Given the description of an element on the screen output the (x, y) to click on. 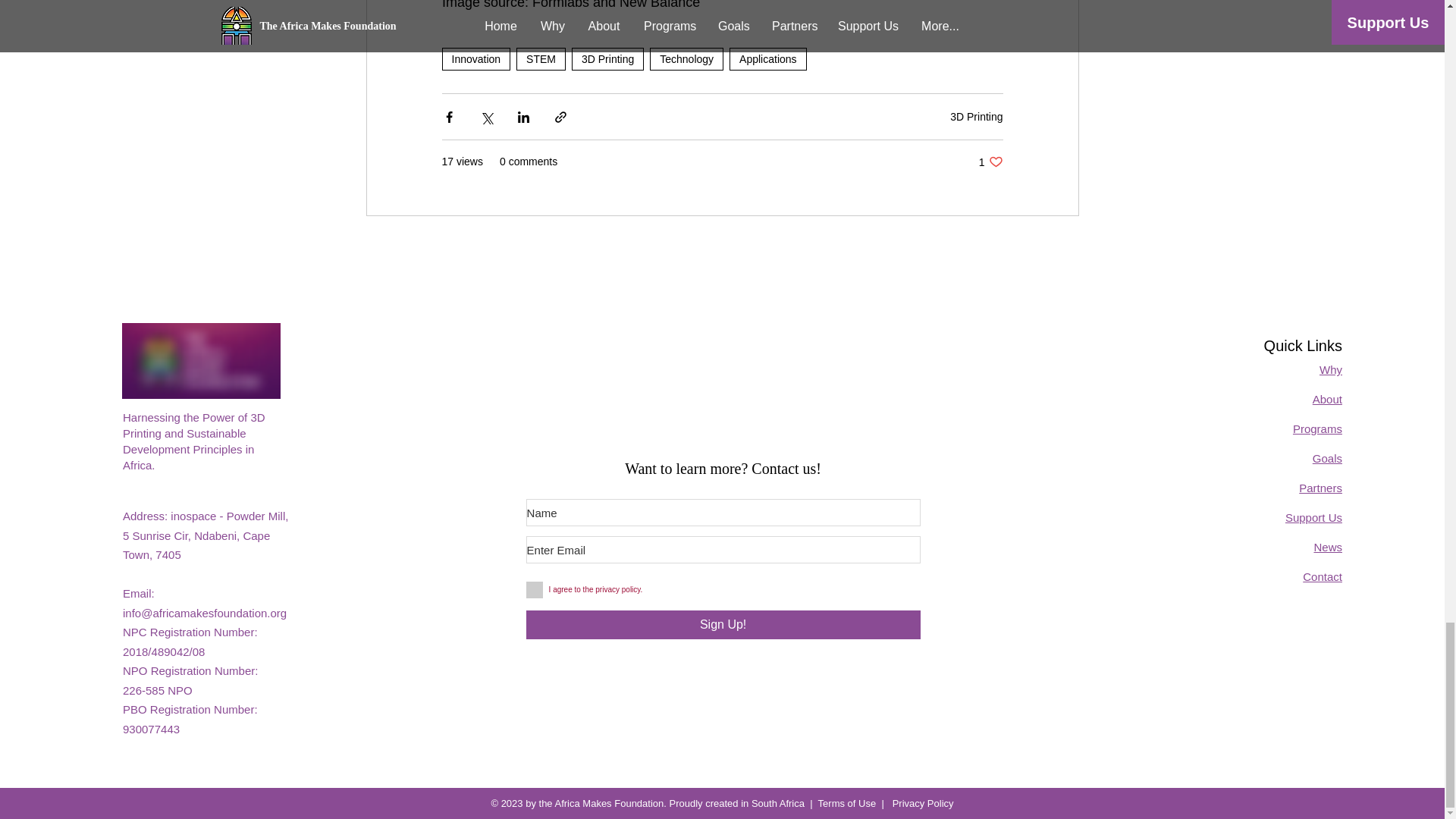
STEM (541, 58)
Partners (1320, 487)
About (1327, 399)
Support Us (1313, 517)
Sign Up! (722, 624)
Innovation (476, 58)
Goals (1327, 458)
3D Printing (976, 116)
3D Printing (607, 58)
Contact (1322, 576)
